Given the description of an element on the screen output the (x, y) to click on. 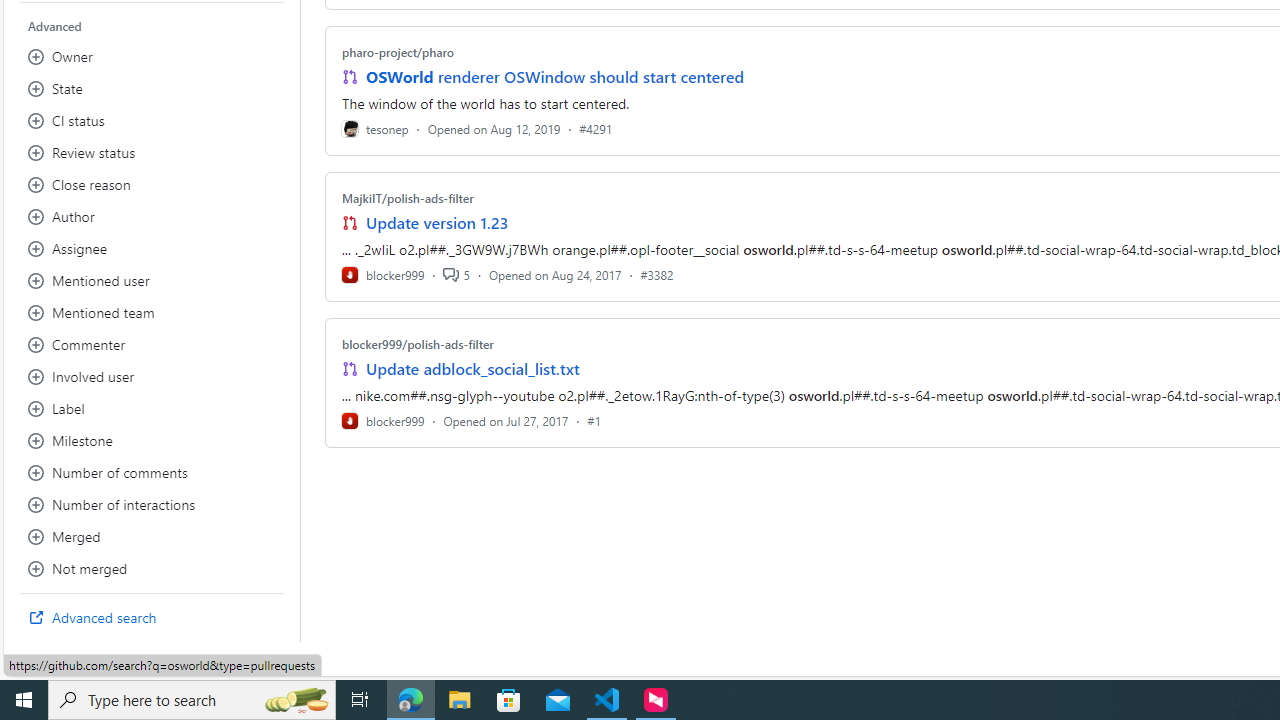
5 (455, 273)
#4291 (595, 128)
Advanced search (152, 617)
pharo-project/pharo (397, 52)
tesonep (375, 128)
